Given the description of an element on the screen output the (x, y) to click on. 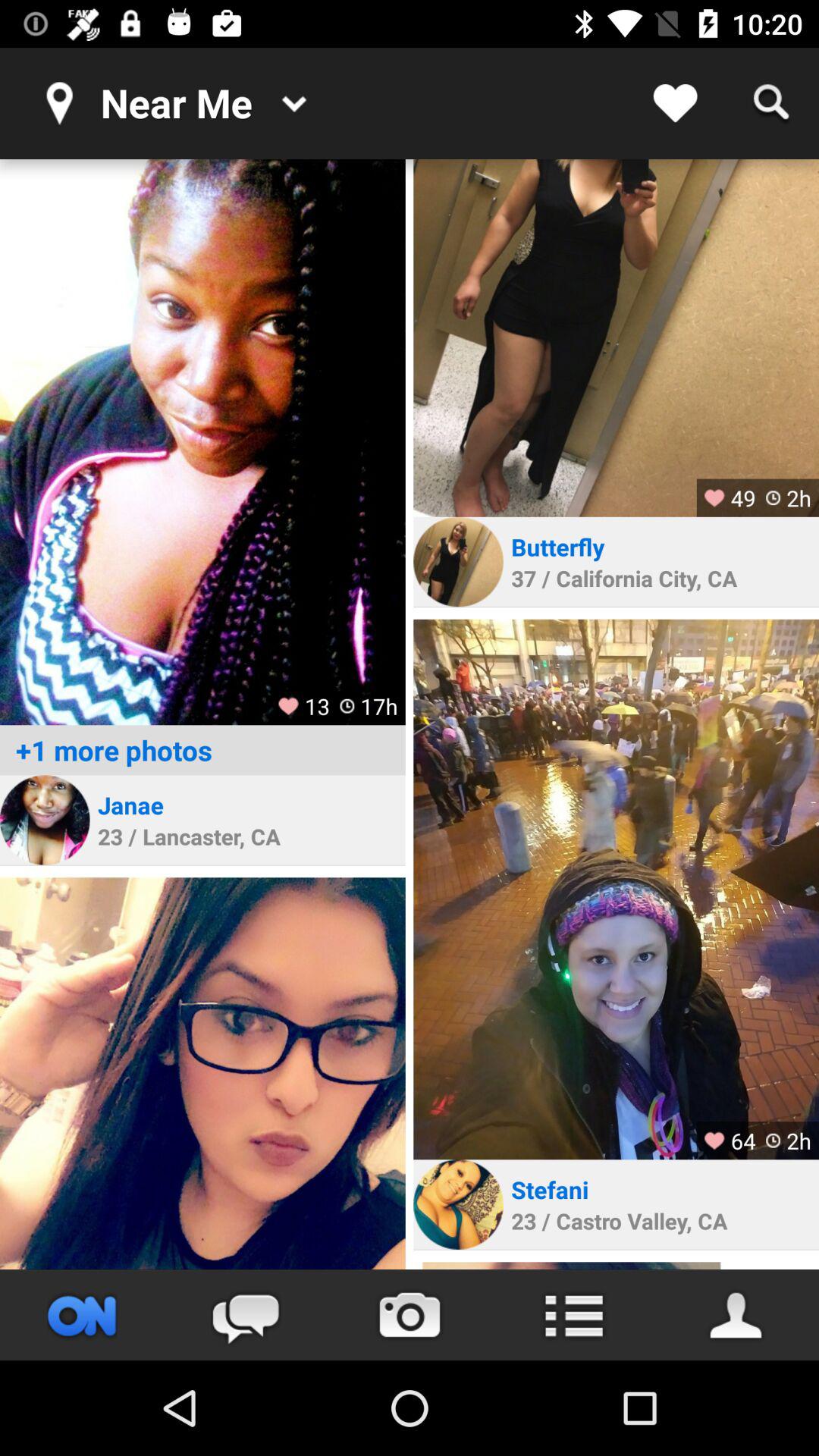
choose the janae item (130, 804)
